Given the description of an element on the screen output the (x, y) to click on. 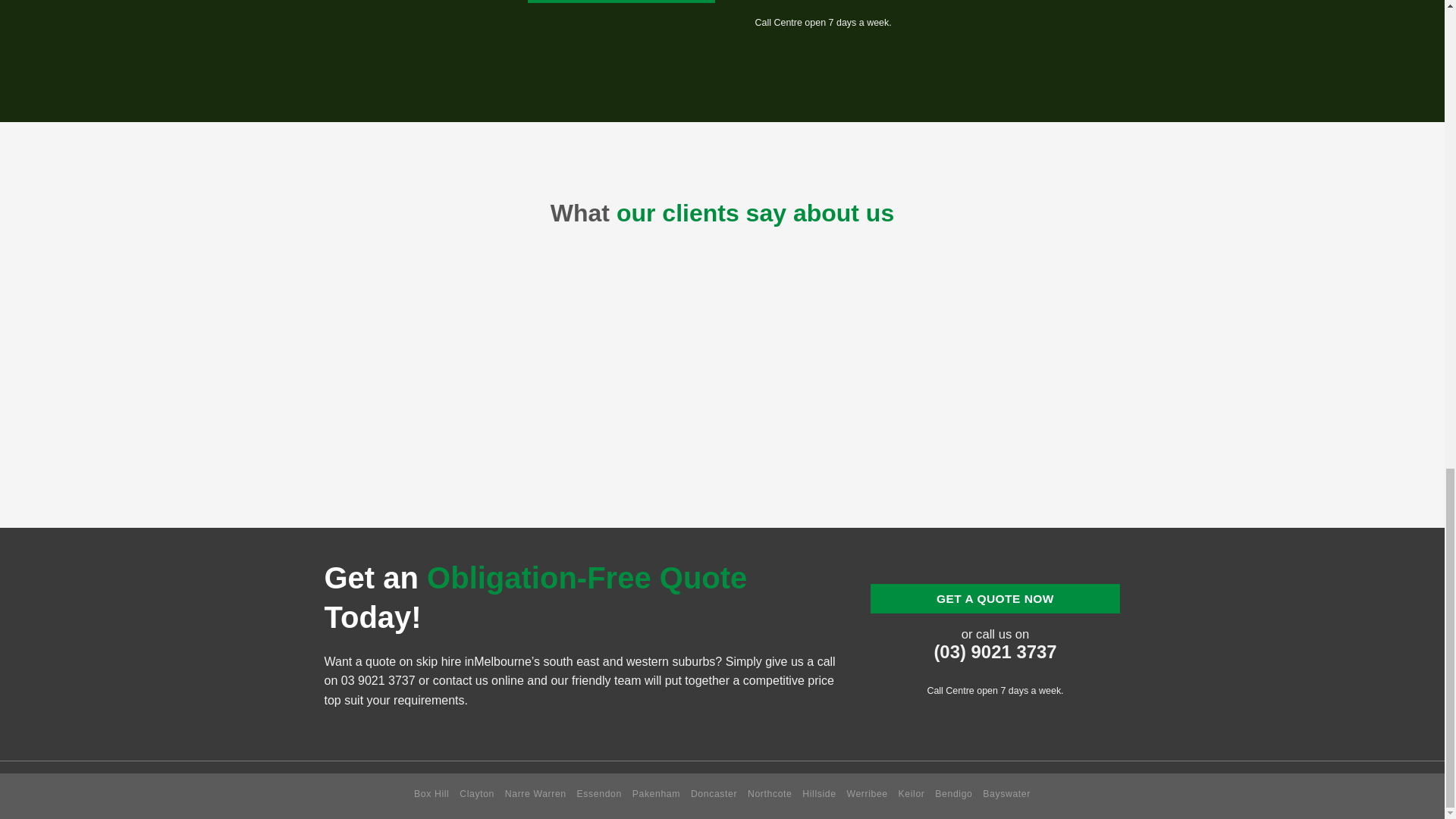
Narre Warren (535, 793)
Box Hill (430, 793)
Clayton (477, 793)
Essendon (598, 793)
GET A QUOTE NOW (620, 1)
03 9021 3737 (377, 680)
GET A QUOTE NOW (995, 598)
